Given the description of an element on the screen output the (x, y) to click on. 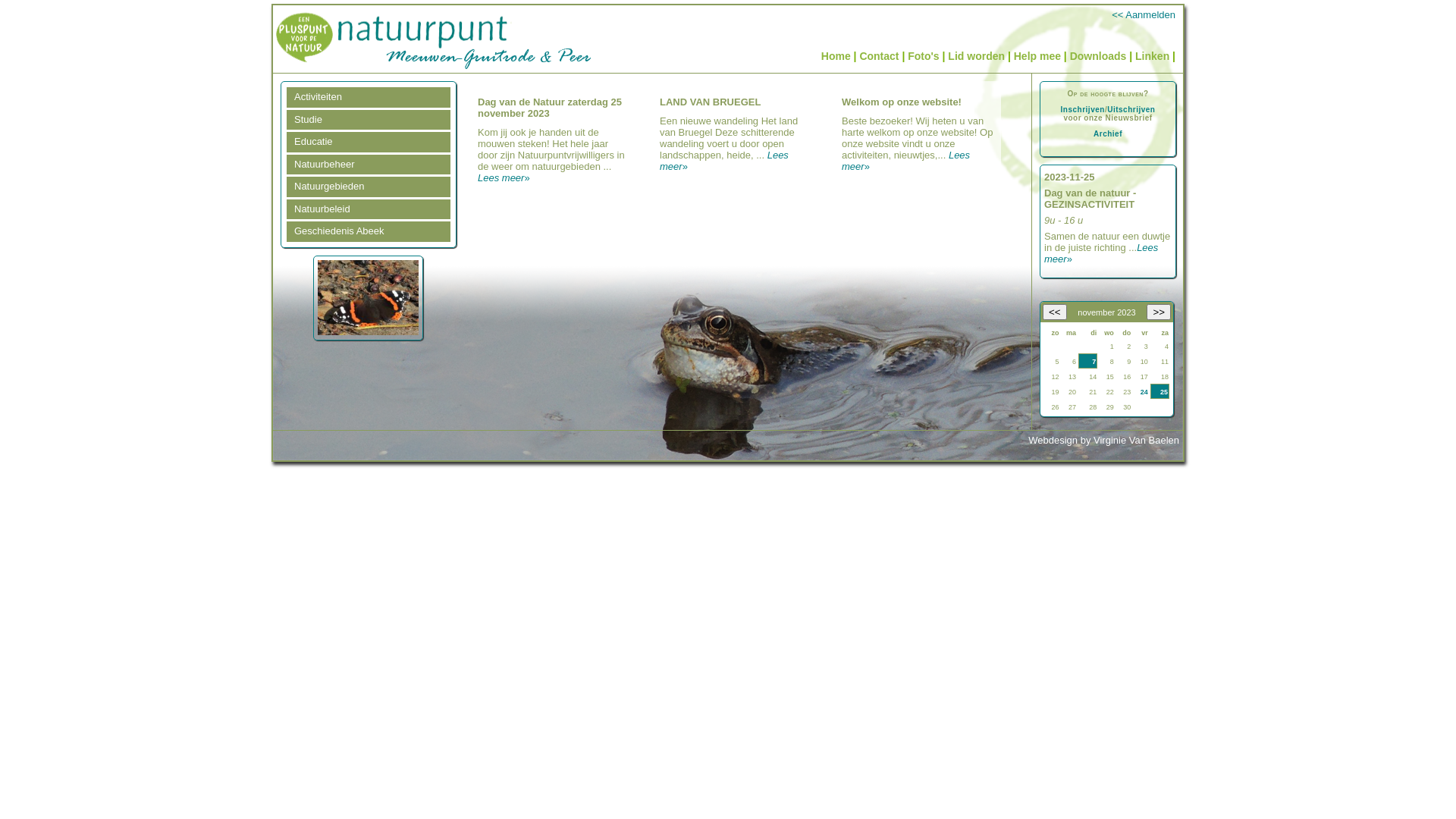
Studie Element type: text (368, 119)
Educatie Element type: text (368, 141)
Geschiedenis Abeek Element type: text (368, 231)
<< Aanmelden Element type: text (1143, 14)
Contact Element type: text (878, 56)
Help mee Element type: text (1036, 56)
25 Element type: text (1163, 391)
Linken Element type: text (1152, 56)
Natuurbeleid Element type: text (368, 208)
Downloads Element type: text (1098, 56)
Uitschrijven Element type: text (1130, 109)
Foto's Element type: text (922, 56)
Activiteiten Element type: text (368, 97)
Home Element type: text (835, 56)
>> Element type: text (1158, 312)
Archief Element type: text (1107, 133)
Natuurbeheer Element type: text (368, 164)
Webdesign by Virginie Van Baelen Element type: text (1103, 439)
Inschrijven Element type: text (1082, 109)
Natuurgebieden Element type: text (368, 186)
Lid worden Element type: text (975, 56)
7 Element type: text (1093, 361)
<< Element type: text (1054, 312)
